Given the description of an element on the screen output the (x, y) to click on. 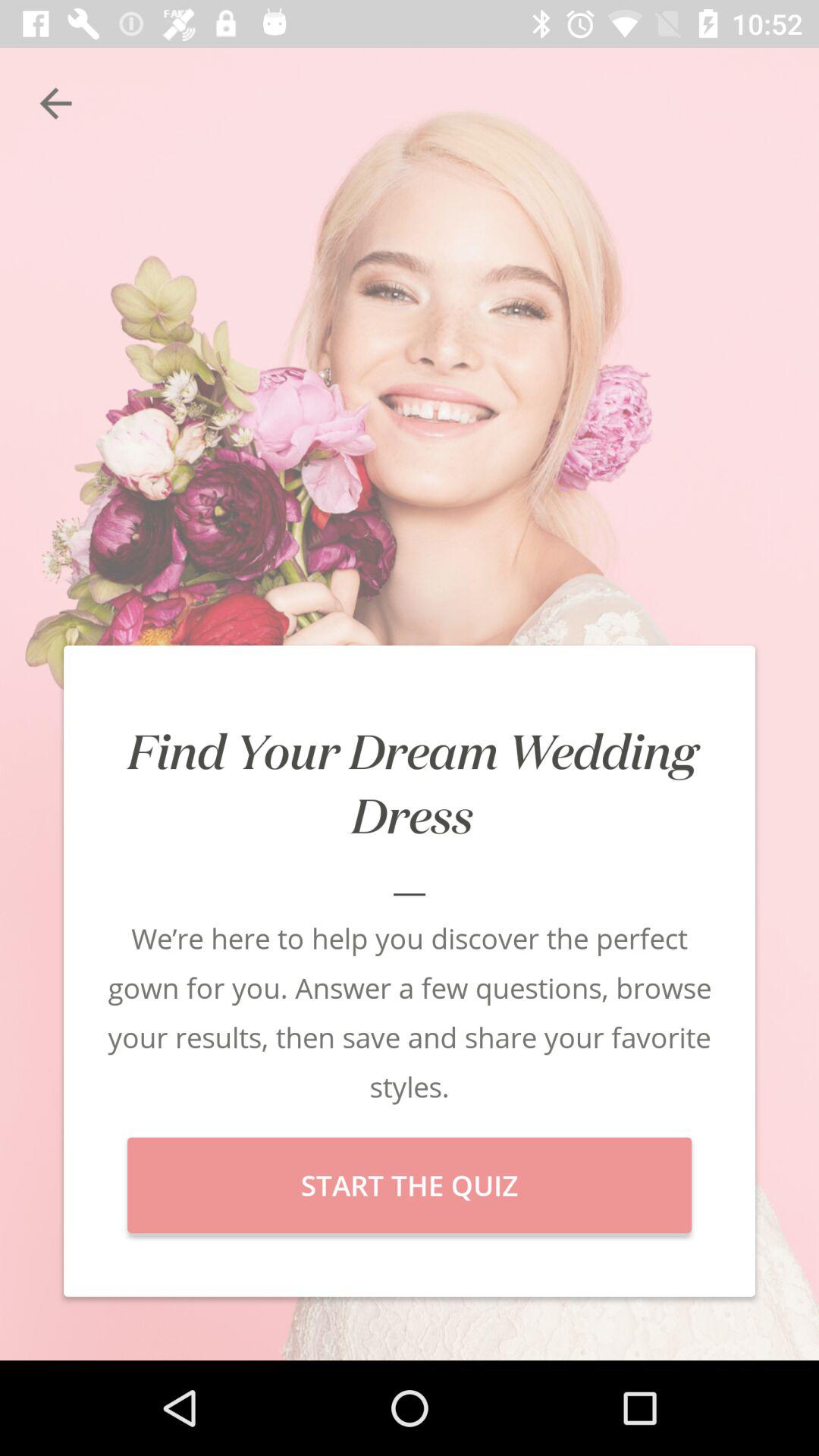
choose the icon below the we re here icon (409, 1185)
